Given the description of an element on the screen output the (x, y) to click on. 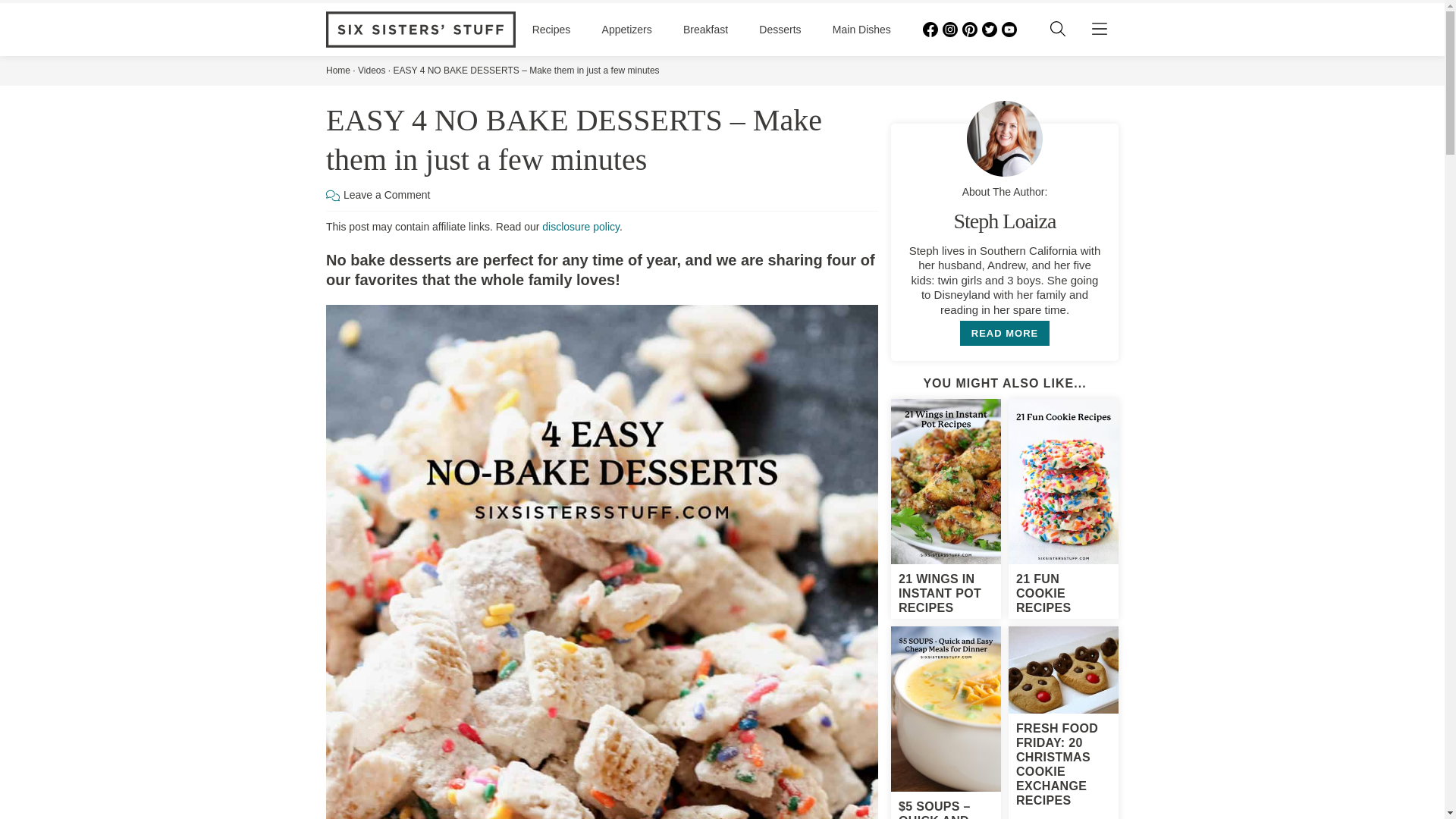
Appetizers (627, 29)
Desserts (779, 29)
Recipes (551, 29)
Breakfast (705, 29)
Main Dishes (861, 29)
